Given the description of an element on the screen output the (x, y) to click on. 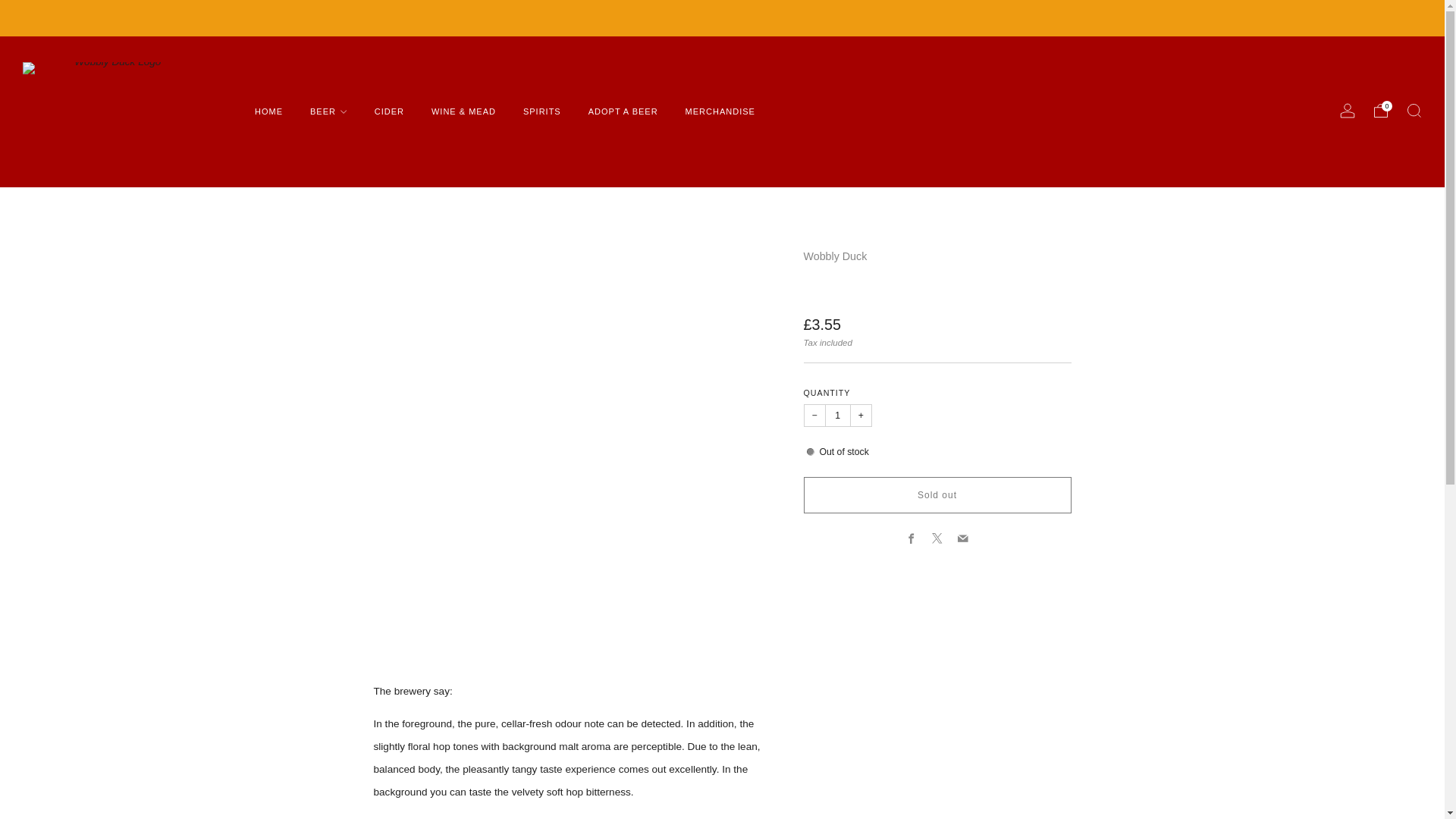
SPIRITS (541, 111)
BEER (328, 111)
MERCHANDISE (720, 111)
ADOPT A BEER (623, 111)
CIDER (389, 111)
0 (1381, 110)
1 (837, 414)
Wobbly Duck (835, 256)
HOME (268, 111)
